Given the description of an element on the screen output the (x, y) to click on. 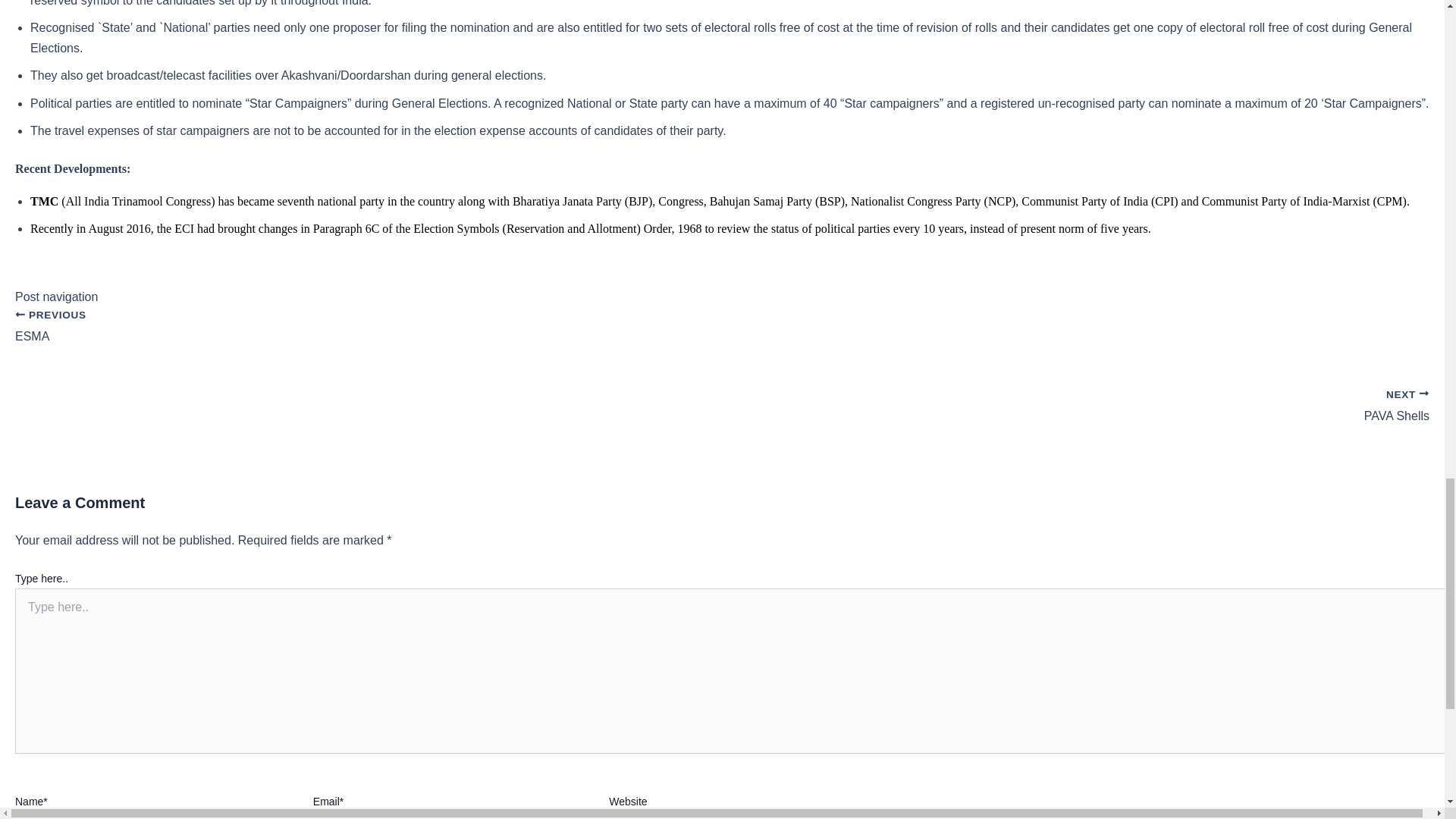
ESMA (721, 335)
PAVA Shells (721, 335)
